Given the description of an element on the screen output the (x, y) to click on. 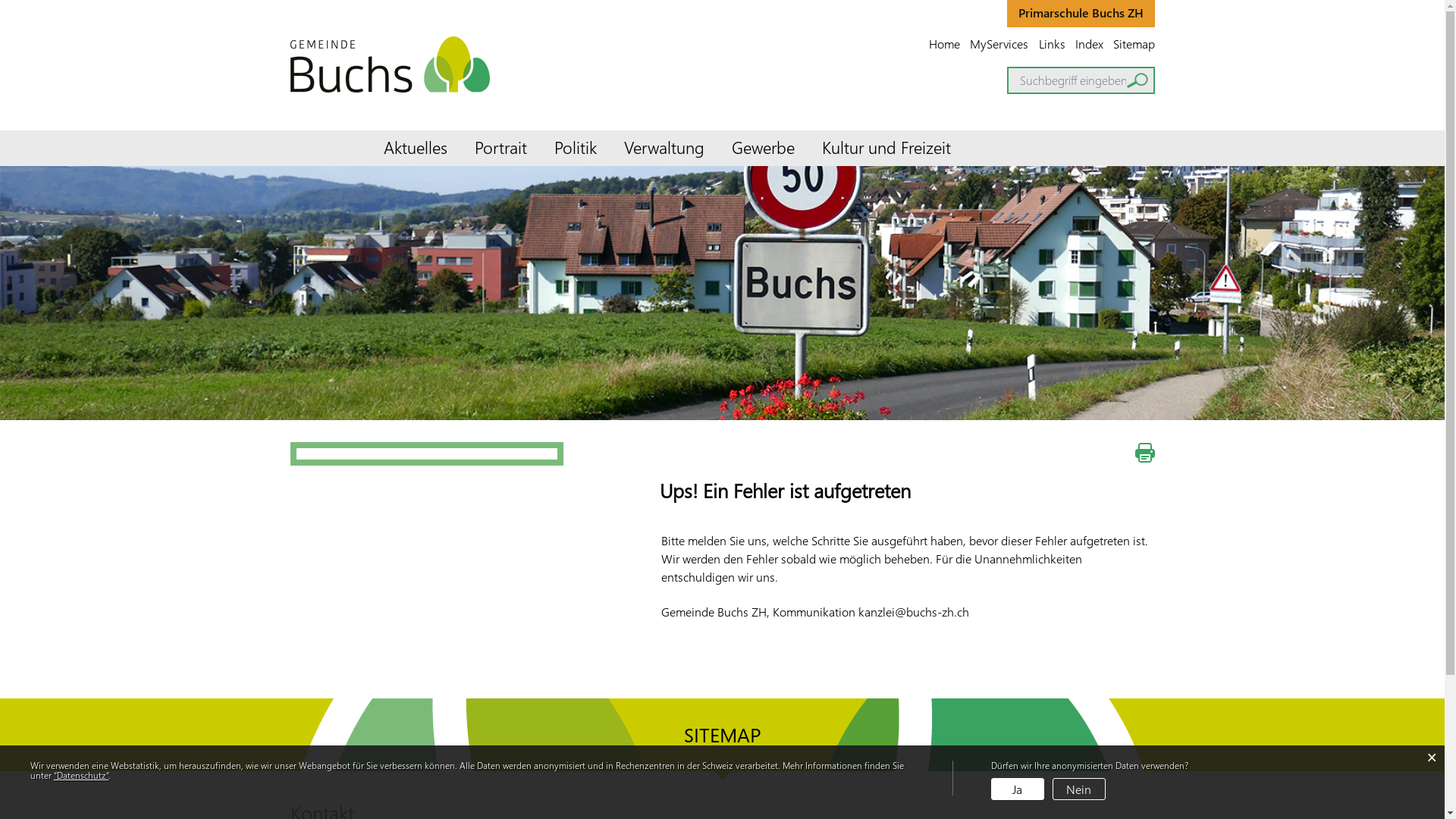
Index Element type: text (1089, 42)
Nein Element type: text (1078, 789)
Politik Element type: text (574, 148)
Kultur und Freizeit Element type: text (886, 148)
Gewerbe Element type: text (762, 148)
Home Element type: text (944, 42)
Aktuelles Element type: text (415, 148)
Sitemap Element type: text (1132, 42)
zur Startseite Element type: text (0, 0)
Suche Element type: text (1137, 80)
MyServices Element type: text (998, 43)
Primarschule Buchs ZH Element type: text (1080, 13)
kanzlei@buchs-zh.ch Element type: text (913, 611)
Links Element type: text (1052, 42)
Verwaltung Element type: text (663, 148)
Ja Element type: text (1017, 789)
Portrait Element type: text (500, 148)
MyServices Element type: text (998, 43)
